Given the description of an element on the screen output the (x, y) to click on. 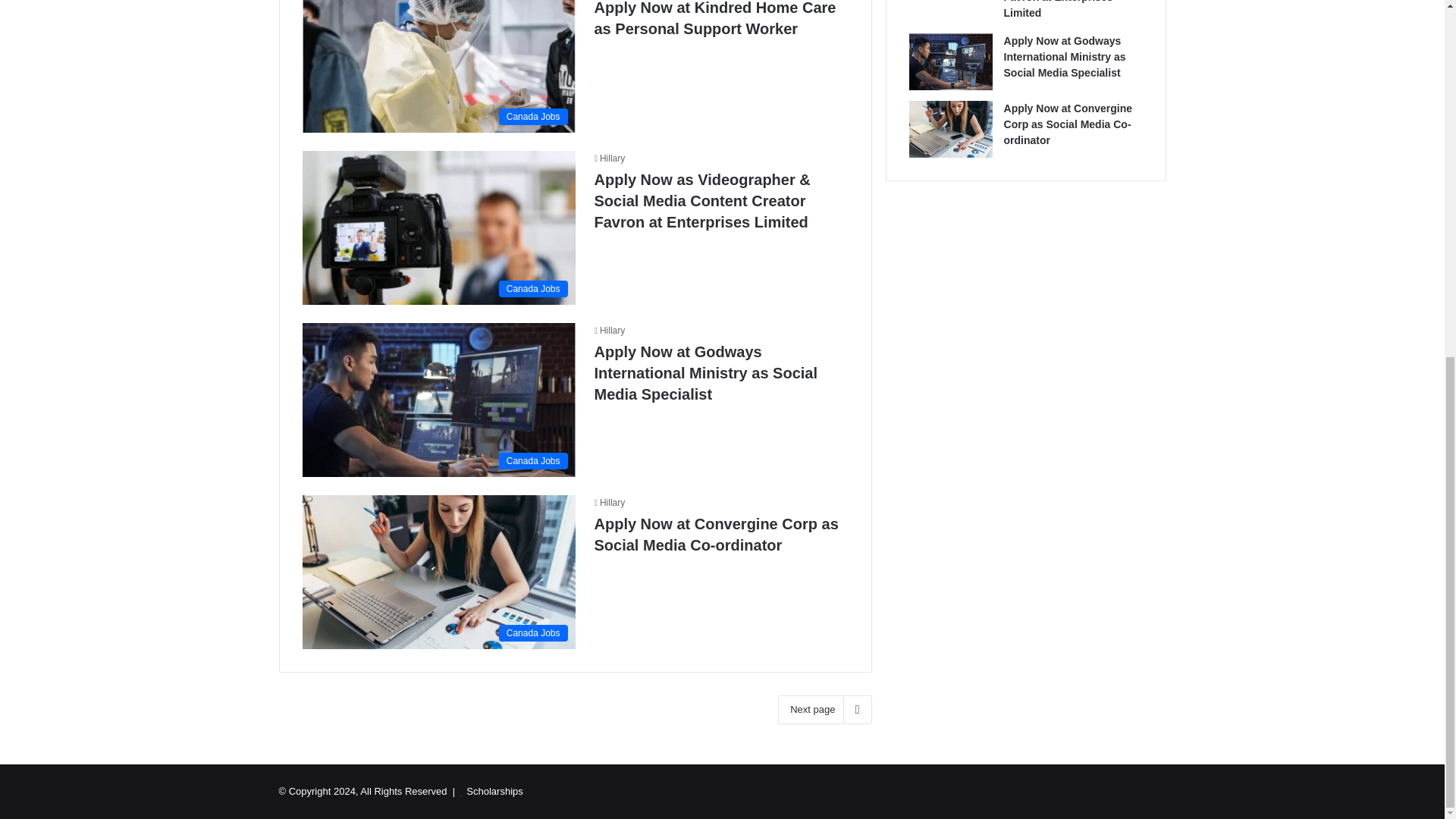
Canada Jobs (438, 66)
Hillary (610, 158)
Hillary (610, 330)
Next page (823, 709)
Canada Jobs (438, 399)
Canada Jobs (438, 227)
Hillary (610, 330)
Apply Now at Kindred Home Care as Personal Support Worker (714, 18)
